Given the description of an element on the screen output the (x, y) to click on. 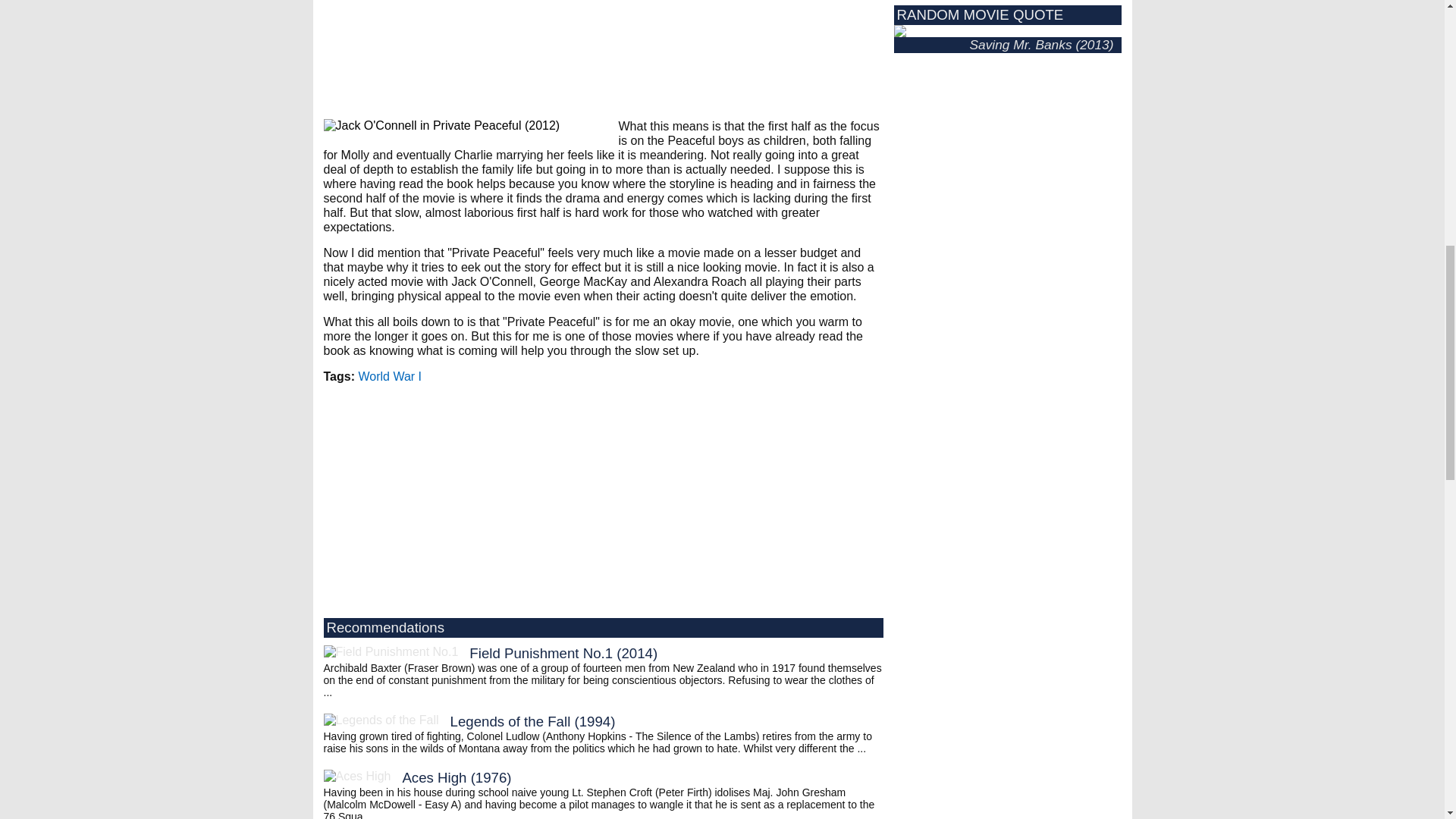
World War I (390, 376)
